Given the description of an element on the screen output the (x, y) to click on. 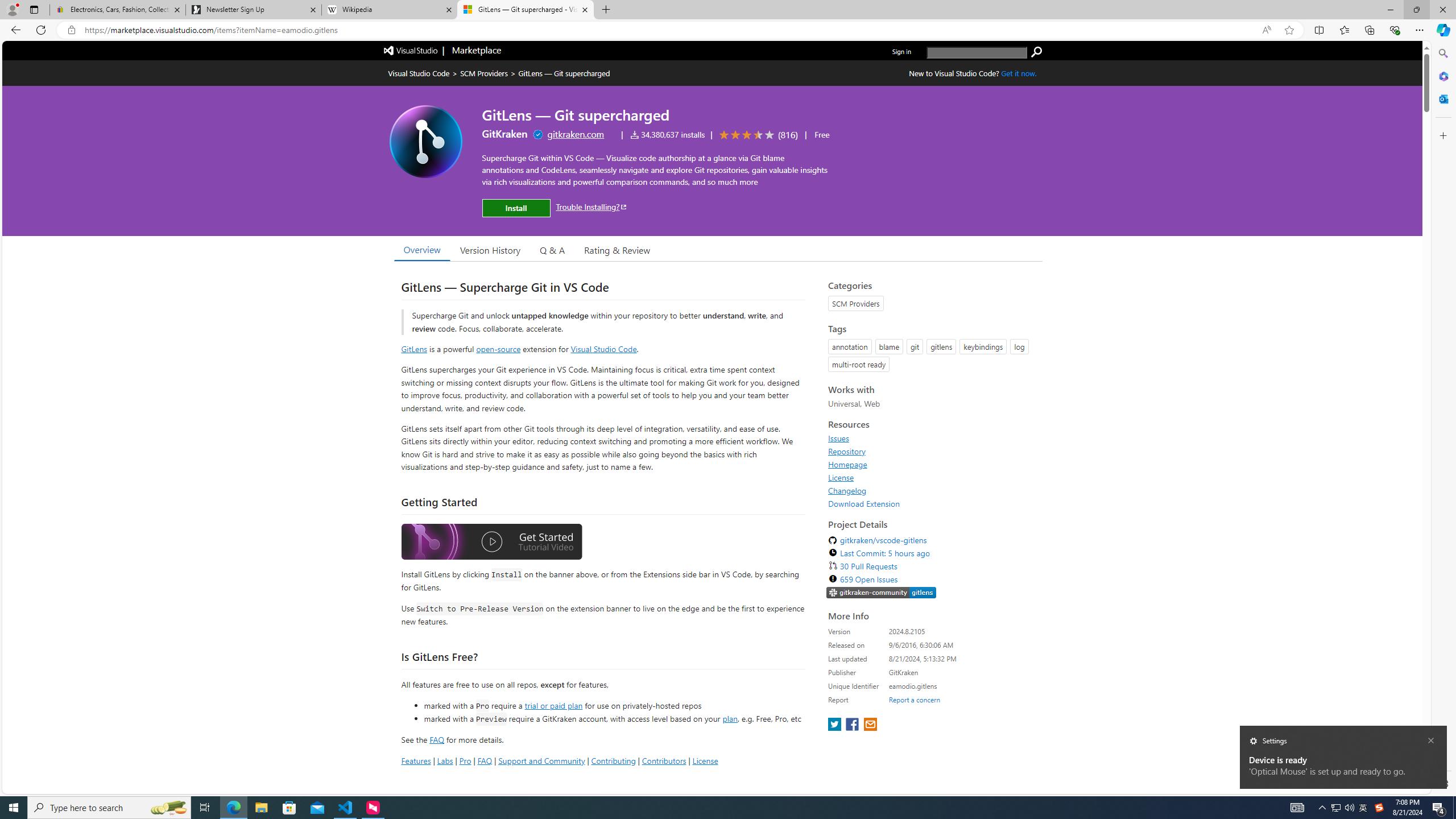
Contributing (613, 760)
Labs (444, 760)
https://slack.gitkraken.com// (881, 593)
search (976, 52)
Visual Studio logo Marketplace logo (441, 50)
